Given the description of an element on the screen output the (x, y) to click on. 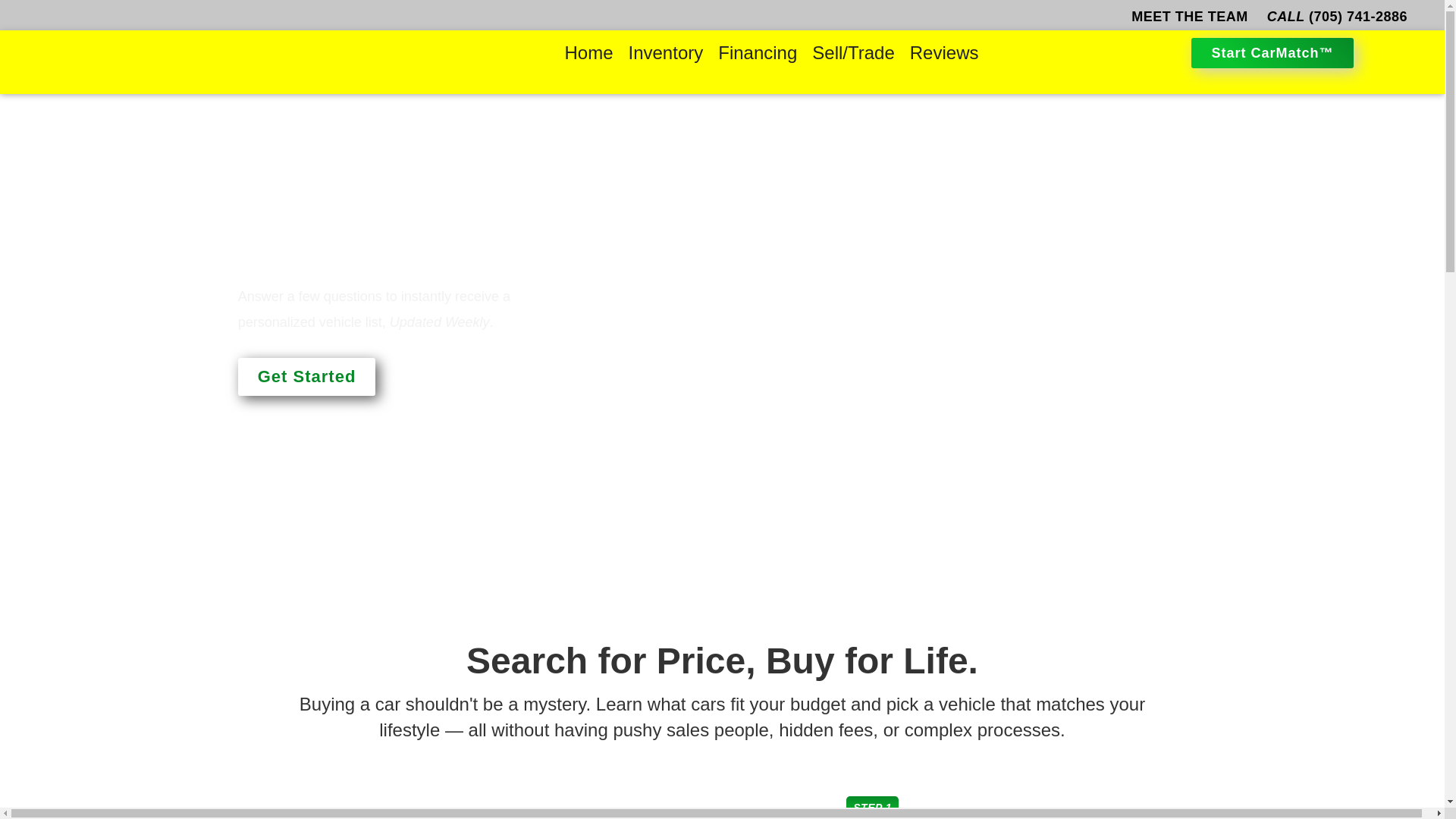
Financing Element type: text (757, 52)
Inventory Element type: text (665, 52)
Reviews Element type: text (944, 52)
Home Element type: text (588, 52)
Get Started Element type: text (307, 376)
MEET THE TEAM Element type: text (1189, 16)
Sell/Trade Element type: text (853, 52)
CALL (705) 741-2886 Element type: text (1337, 16)
